Given the description of an element on the screen output the (x, y) to click on. 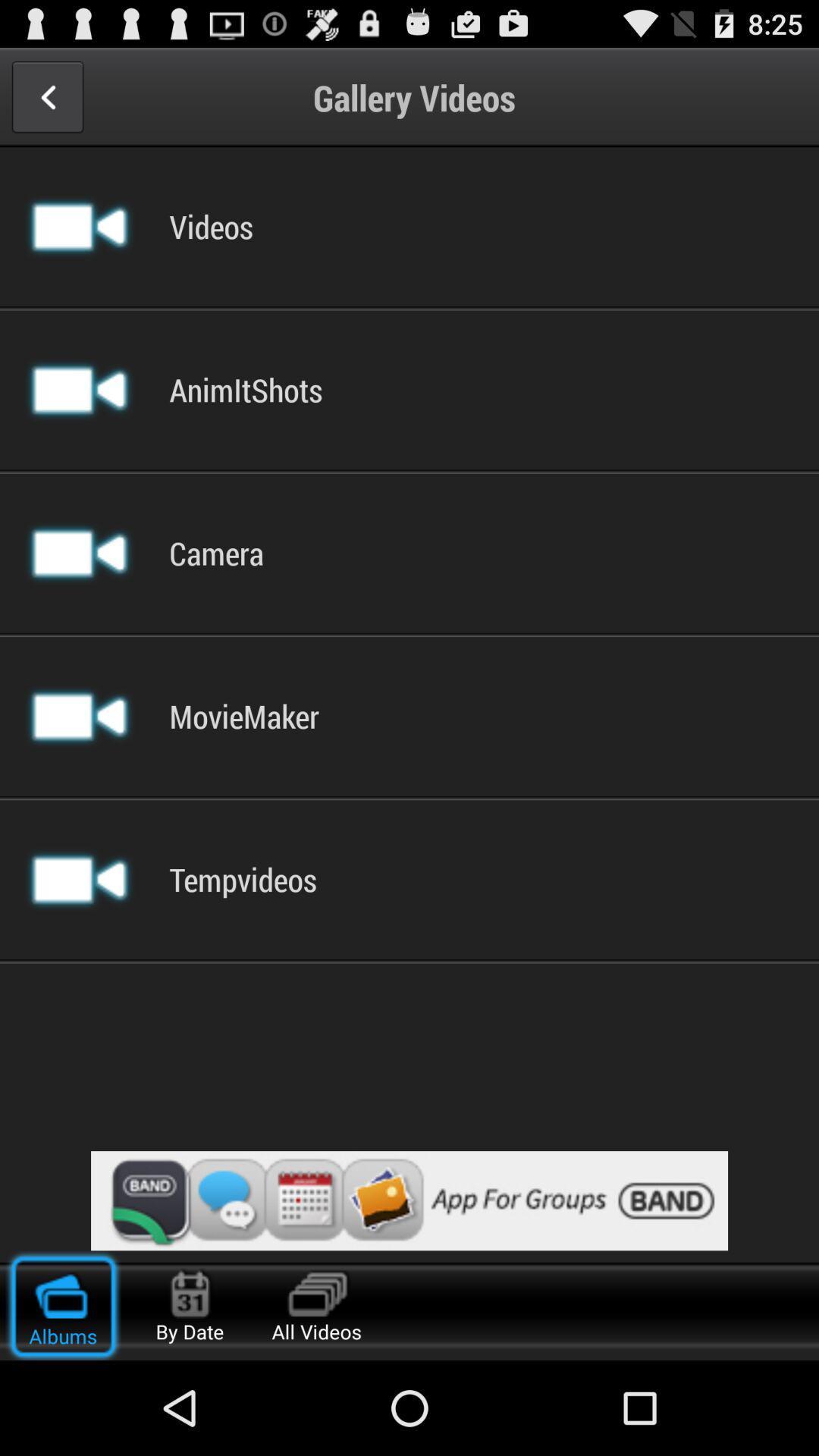
go back (47, 97)
